Given the description of an element on the screen output the (x, y) to click on. 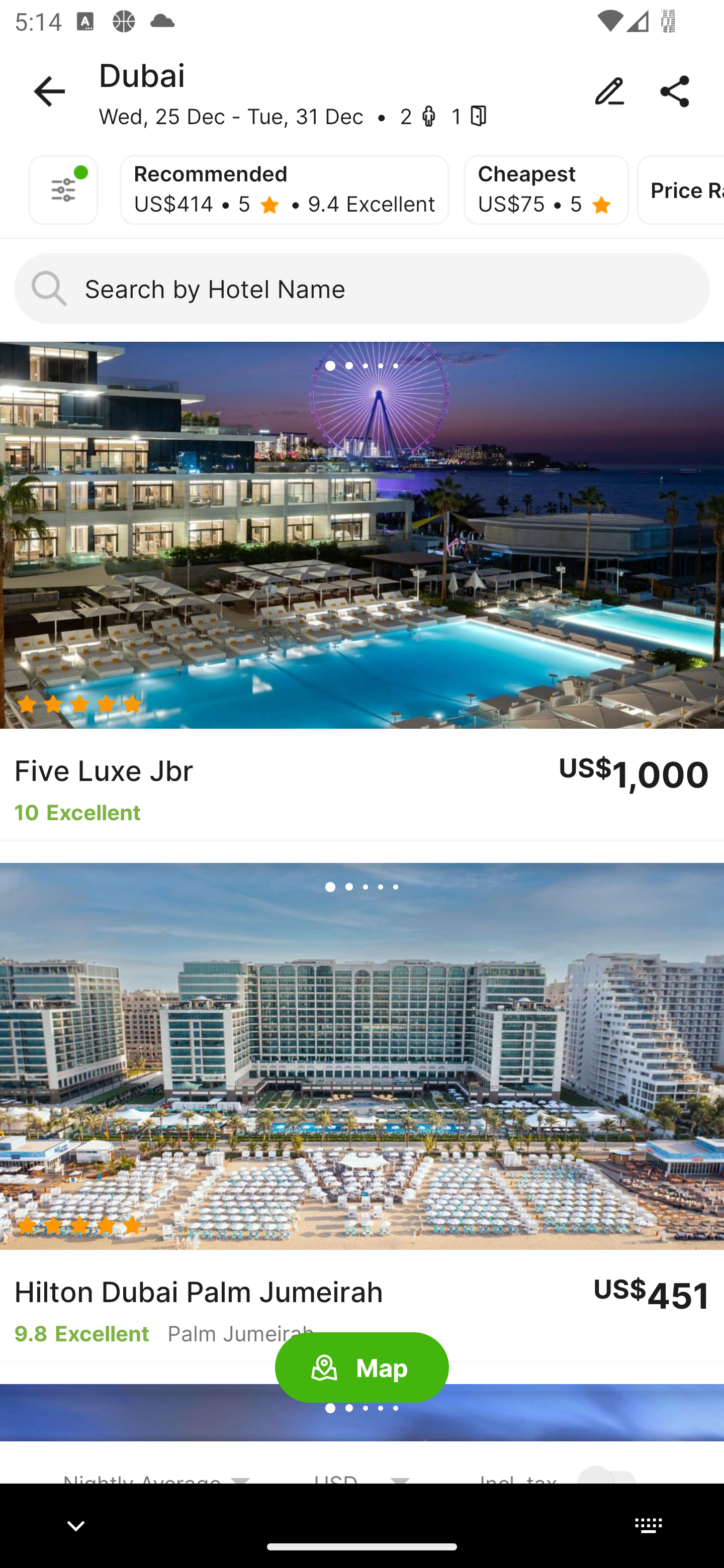
Dubai Wed, 25 Dec - Tue, 31 Dec  •  2 -  1 - (361, 91)
Recommended  US$414  • 5 - • 9.4 Excellent (284, 190)
Cheapest US$75  • 5 - (546, 190)
Price Range (680, 190)
Search by Hotel Name  (361, 288)
10.0 Five Luxe Jbr 10 Excellent (362, 590)
Map  (361, 1367)
